Given the description of an element on the screen output the (x, y) to click on. 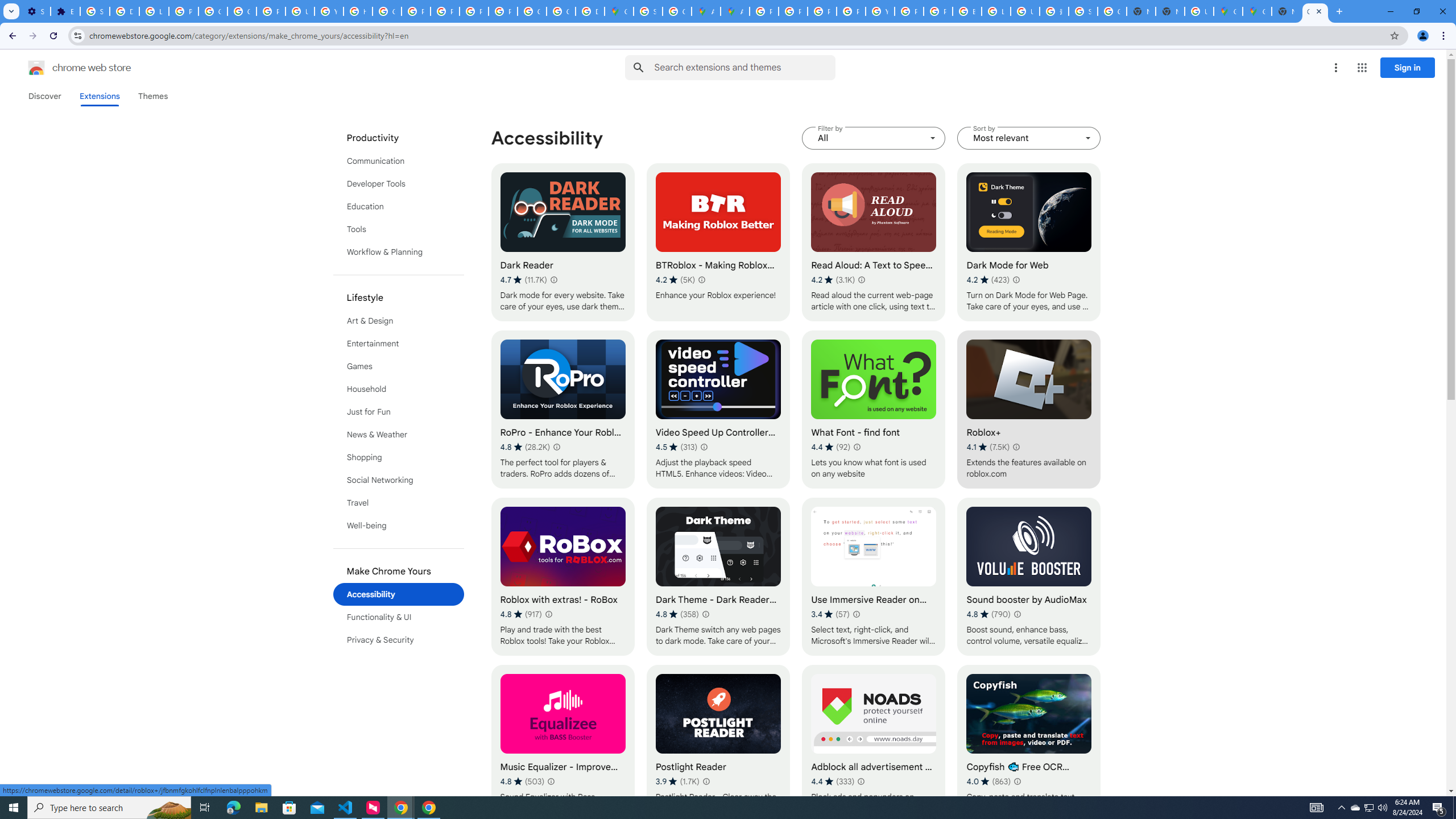
Average rating 4.8 out of 5 stars. 28.2K ratings. (524, 446)
Themes (152, 95)
RoPro - Enhance Your Roblox Experience (562, 409)
YouTube (327, 11)
Privacy Help Center - Policies Help (821, 11)
Chrome Web Store logo (36, 67)
Chrome Web Store - Accessibility (1315, 11)
Just for Fun (398, 411)
Search input (744, 67)
BTRoblox - Making Roblox Better (718, 241)
